Given the description of an element on the screen output the (x, y) to click on. 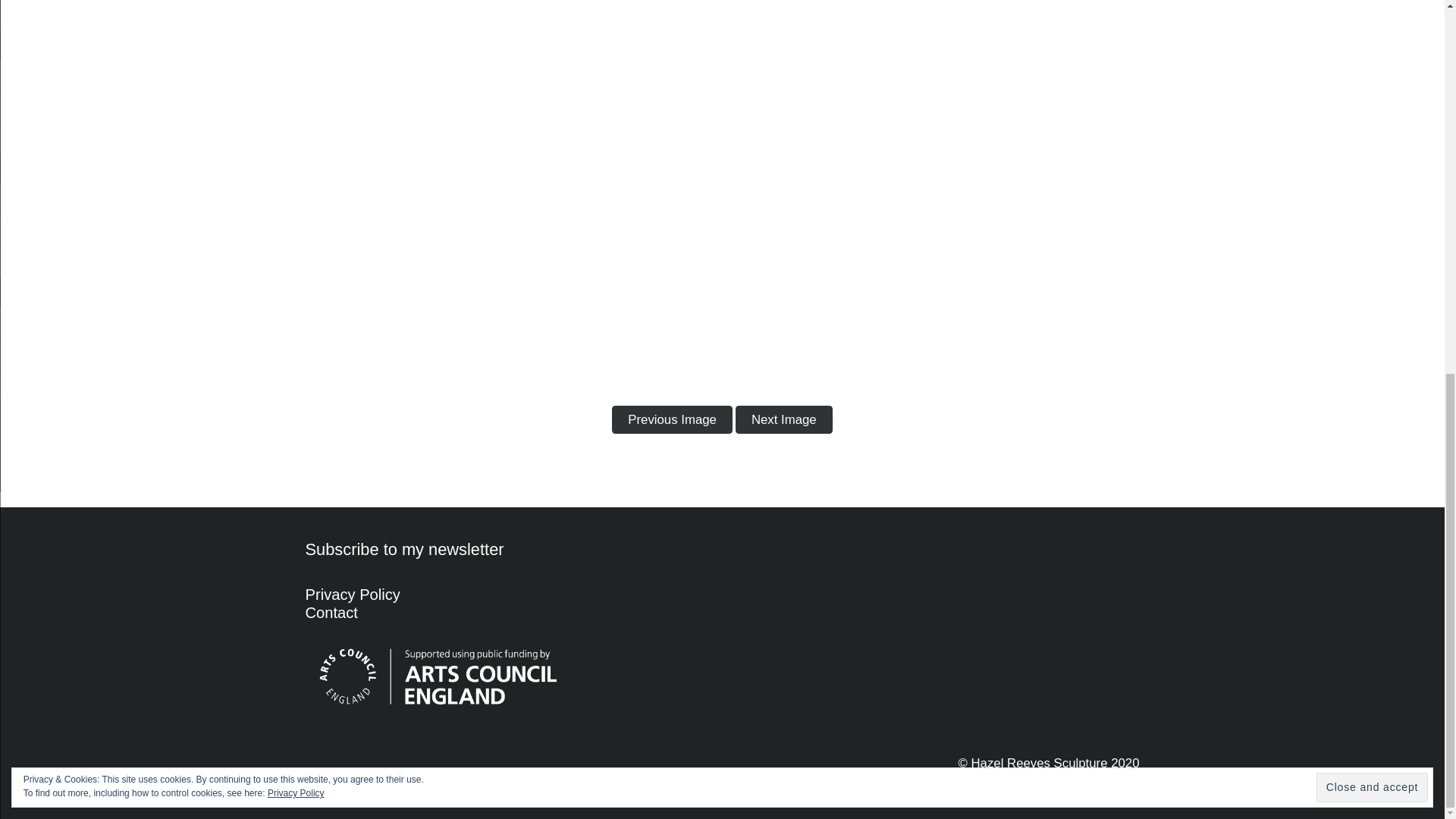
CommsAndSee (1106, 782)
Privacy policy (351, 594)
Next Image (783, 419)
Contact (330, 612)
Close and accept (1372, 103)
Contact (330, 612)
Previous Image (671, 419)
Subscribe to my newsletter (403, 548)
Arts Council England (437, 676)
Privacy Policy (351, 594)
